Given the description of an element on the screen output the (x, y) to click on. 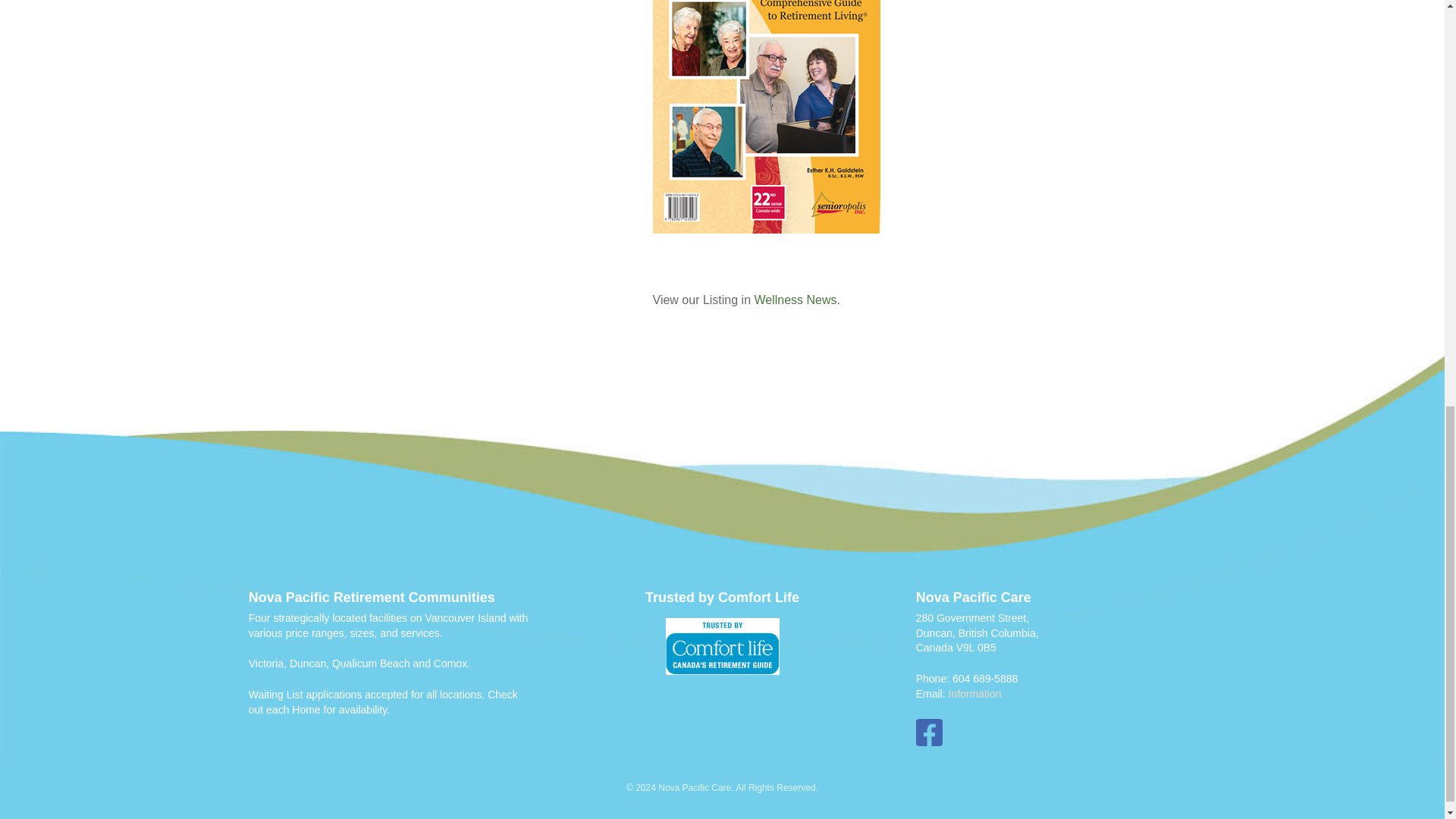
Wellness News (794, 299)
retirement homes (722, 646)
Information (974, 693)
